Given the description of an element on the screen output the (x, y) to click on. 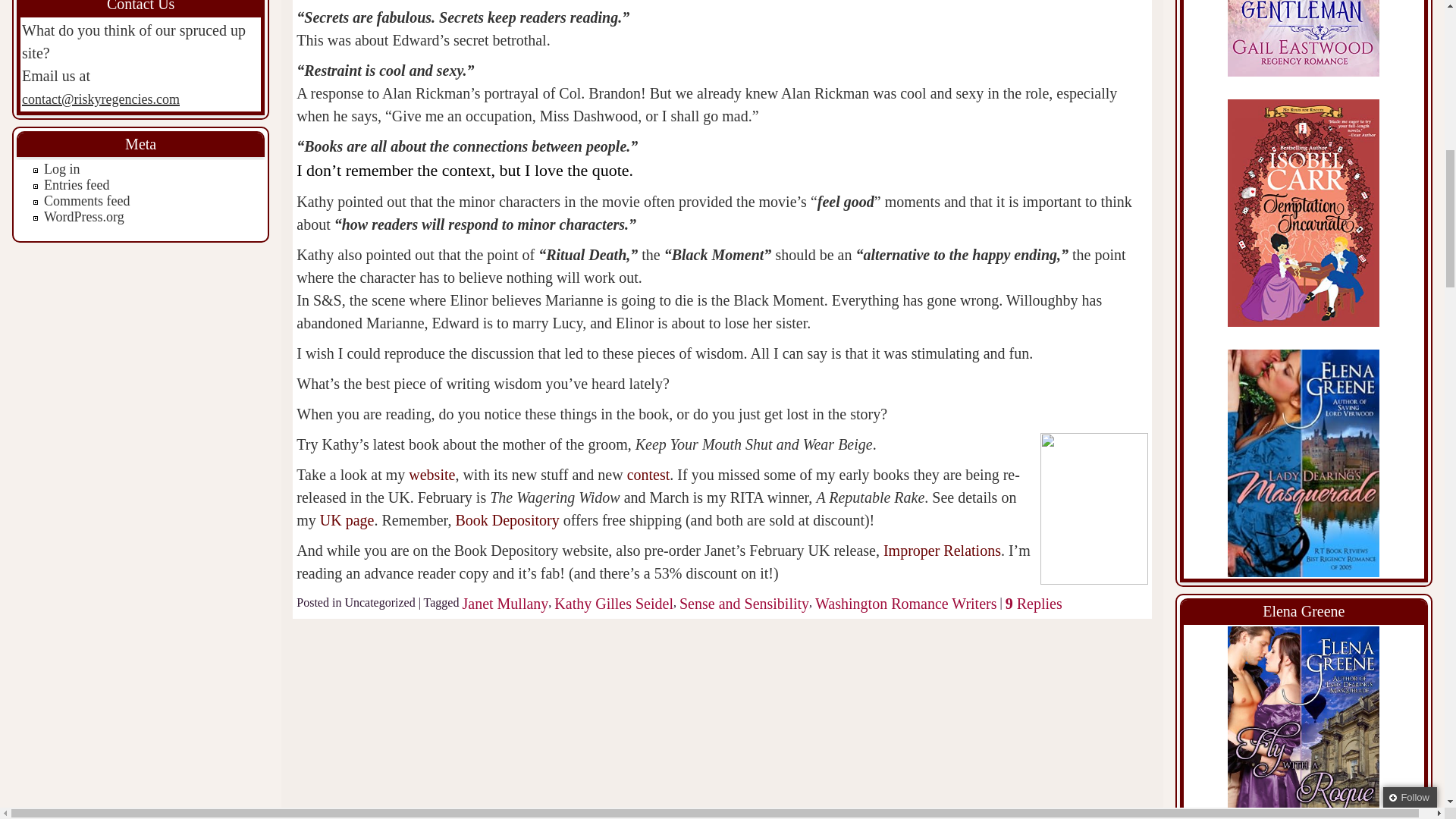
Enter email address (1348, 101)
wpfruits (1373, 182)
Subscribe (1349, 151)
